Given the description of an element on the screen output the (x, y) to click on. 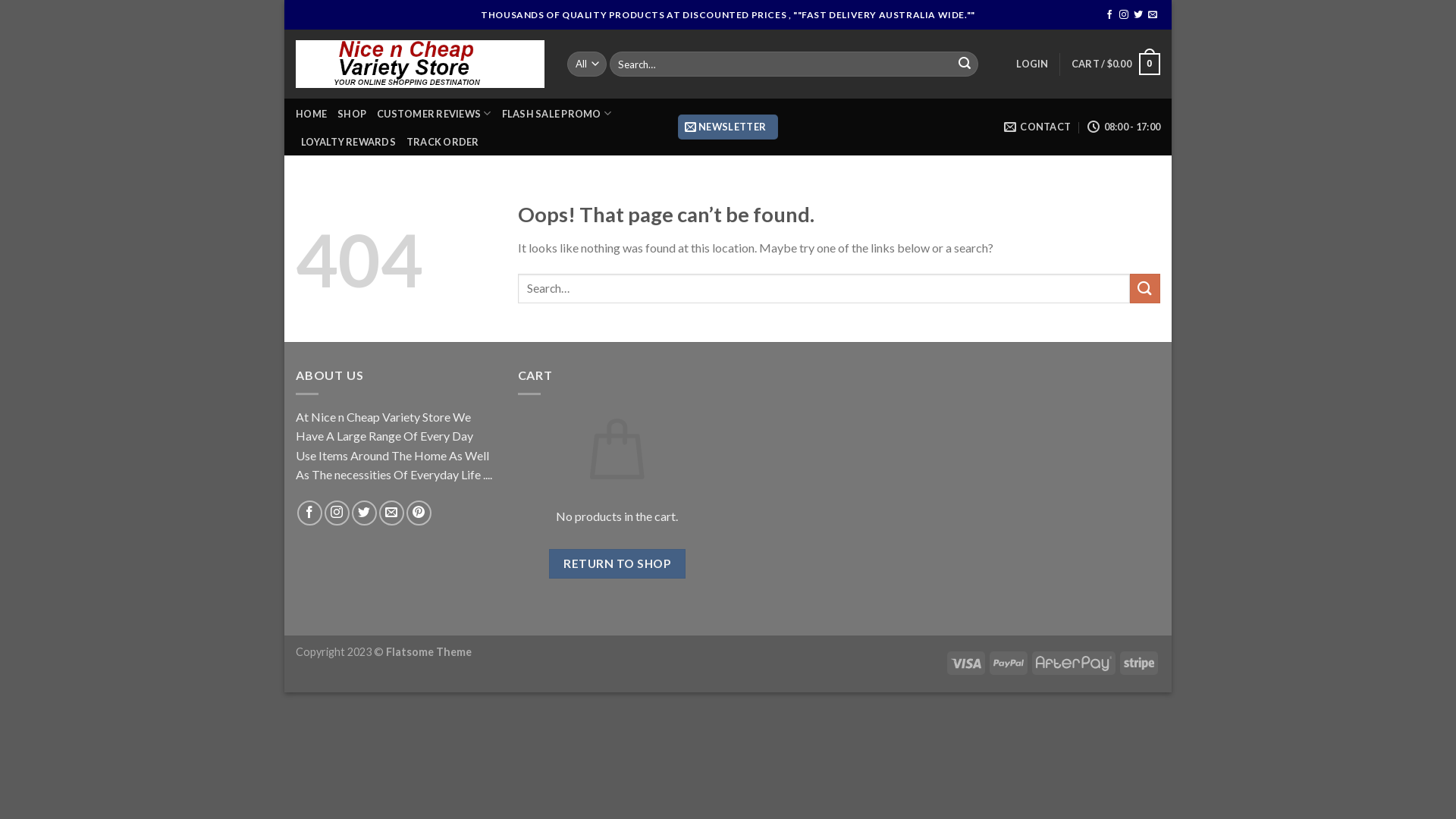
LOYALTY REWARDS Element type: text (348, 141)
SHOP Element type: text (351, 113)
LOGIN Element type: text (1032, 63)
HOME Element type: text (310, 113)
Nice n Cheap Variety Store - Nice n Cheap Variety Store Element type: hover (419, 63)
Follow on Pinterest Element type: hover (418, 512)
Follow on Twitter Element type: hover (363, 512)
Send us an email Element type: hover (1152, 14)
Search Element type: text (964, 64)
NEWSLETTER Element type: text (727, 126)
Follow on Twitter Element type: hover (1137, 14)
TRACK ORDER Element type: text (442, 141)
FLASH SALE PROMO Element type: text (556, 113)
Follow on Instagram Element type: hover (336, 512)
CUSTOMER REVIEWS Element type: text (433, 113)
Send us an email Element type: hover (391, 512)
CART / $0.00
0 Element type: text (1115, 64)
Follow on Instagram Element type: hover (1123, 14)
CONTACT Element type: text (1037, 126)
08:00 - 17:00 Element type: text (1123, 126)
Follow on Facebook Element type: hover (309, 512)
Follow on Facebook Element type: hover (1108, 14)
RETURN TO SHOP Element type: text (617, 563)
